Given the description of an element on the screen output the (x, y) to click on. 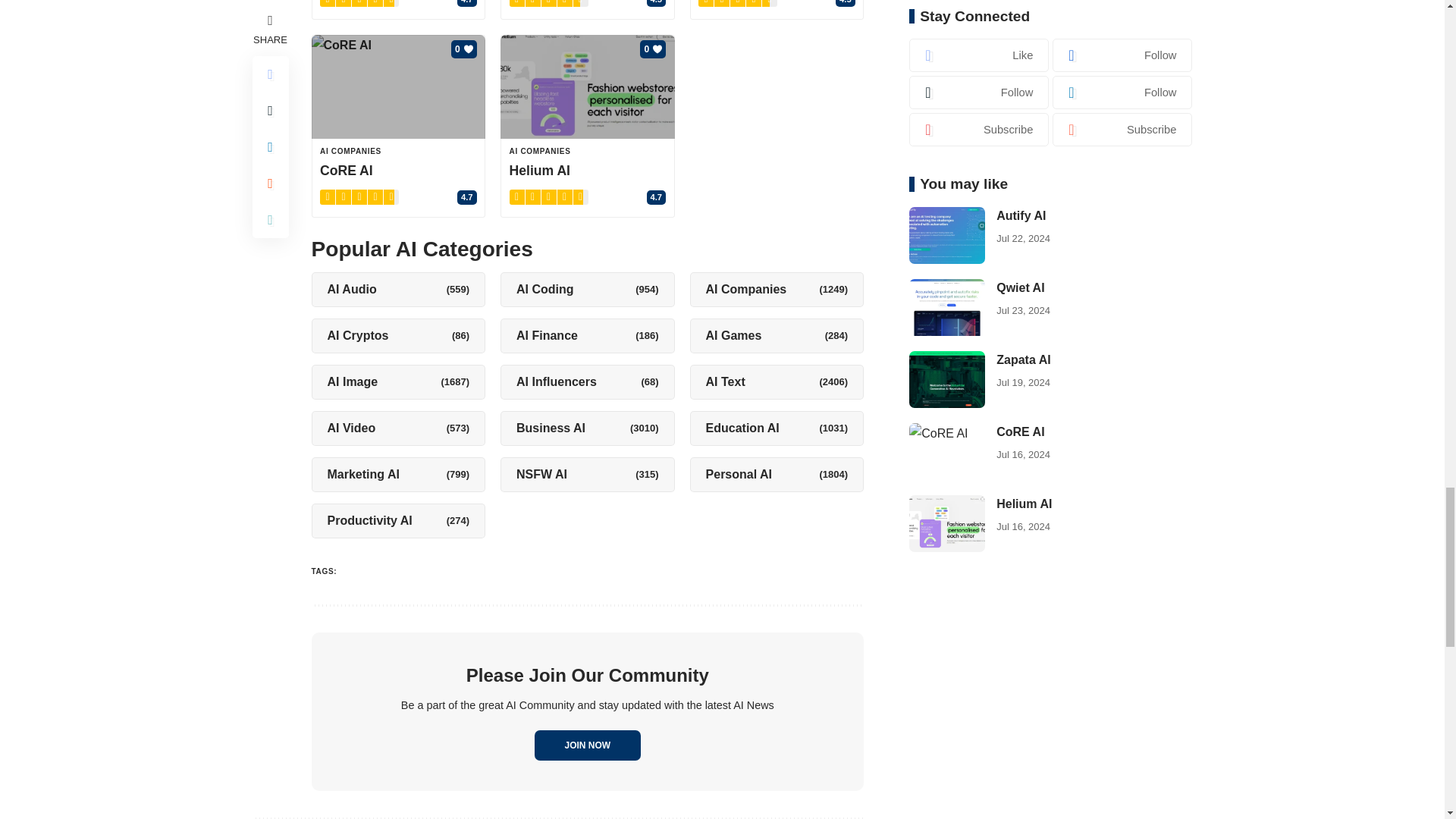
Helium AI (587, 87)
CoRE AI (397, 87)
